Given the description of an element on the screen output the (x, y) to click on. 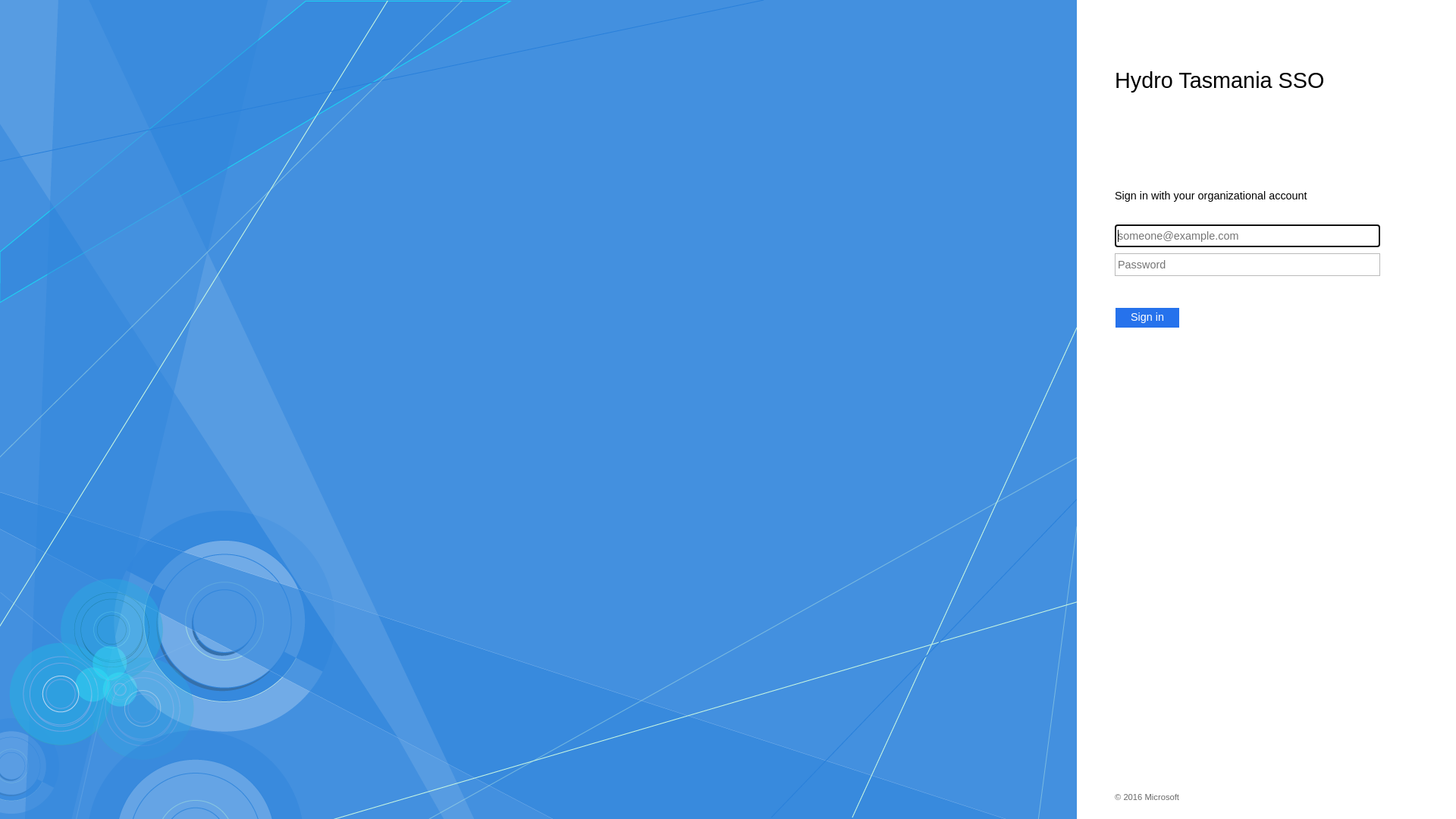
Sign in Element type: text (1146, 317)
